Given the description of an element on the screen output the (x, y) to click on. 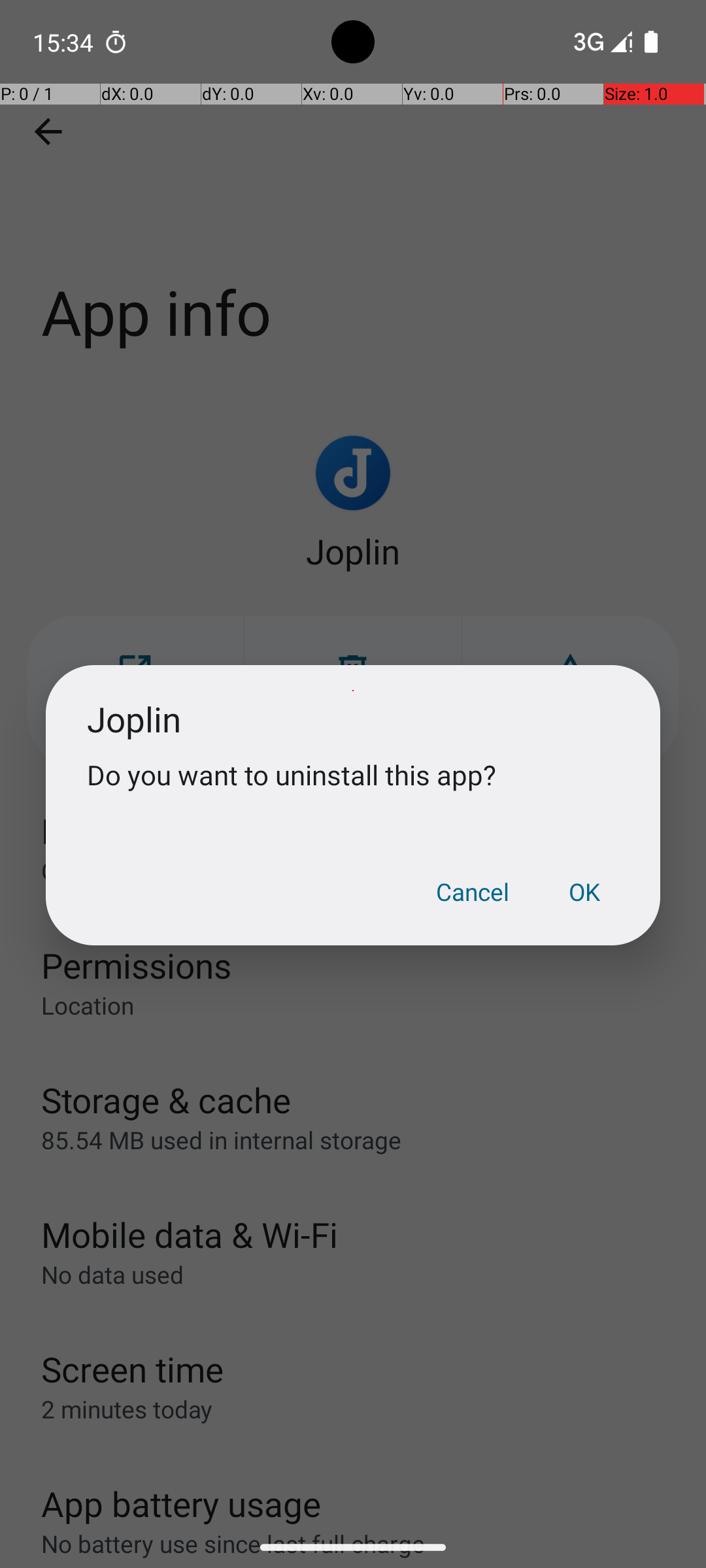
Do you want to uninstall this app? Element type: android.widget.TextView (352, 774)
